Given the description of an element on the screen output the (x, y) to click on. 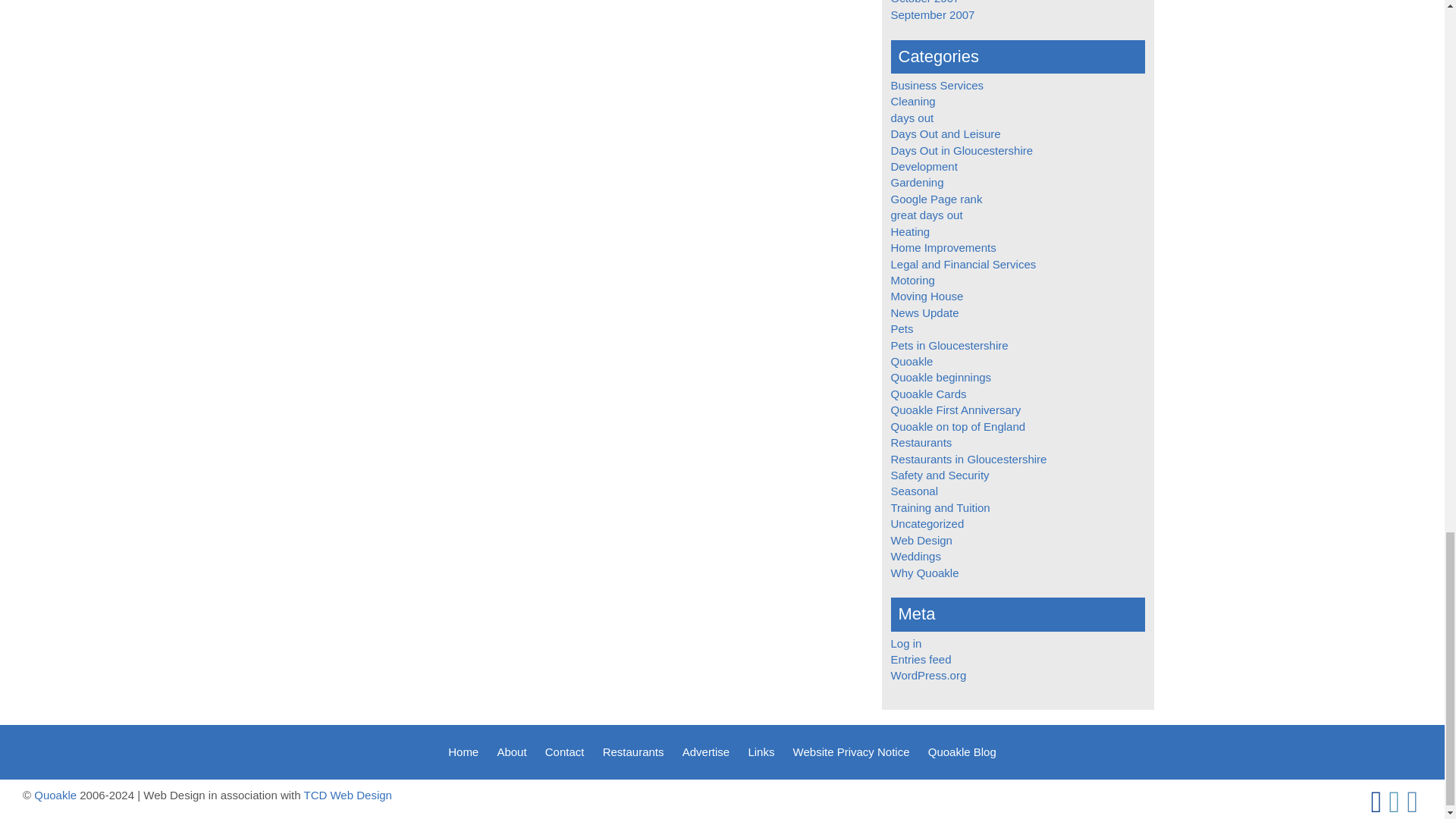
TCD Web Design (346, 794)
